Given the description of an element on the screen output the (x, y) to click on. 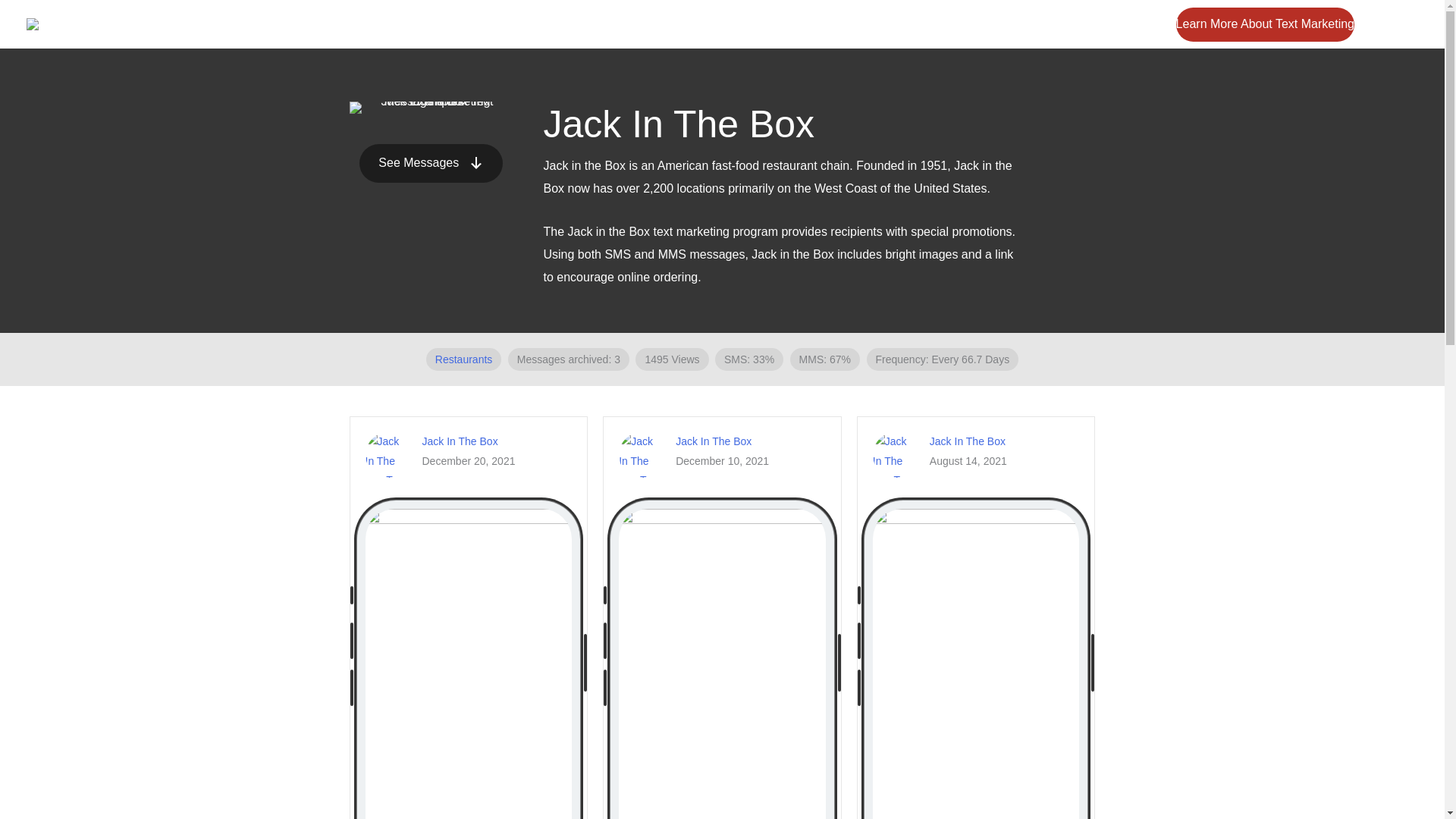
Jack In The Box TP (430, 107)
Messages (1080, 24)
Jack In The Box (459, 440)
Restaurants (463, 358)
Learn More About Text Marketing (1265, 24)
See Messages (430, 163)
Jack In The Box (713, 440)
Jack In The Box (968, 440)
